Given the description of an element on the screen output the (x, y) to click on. 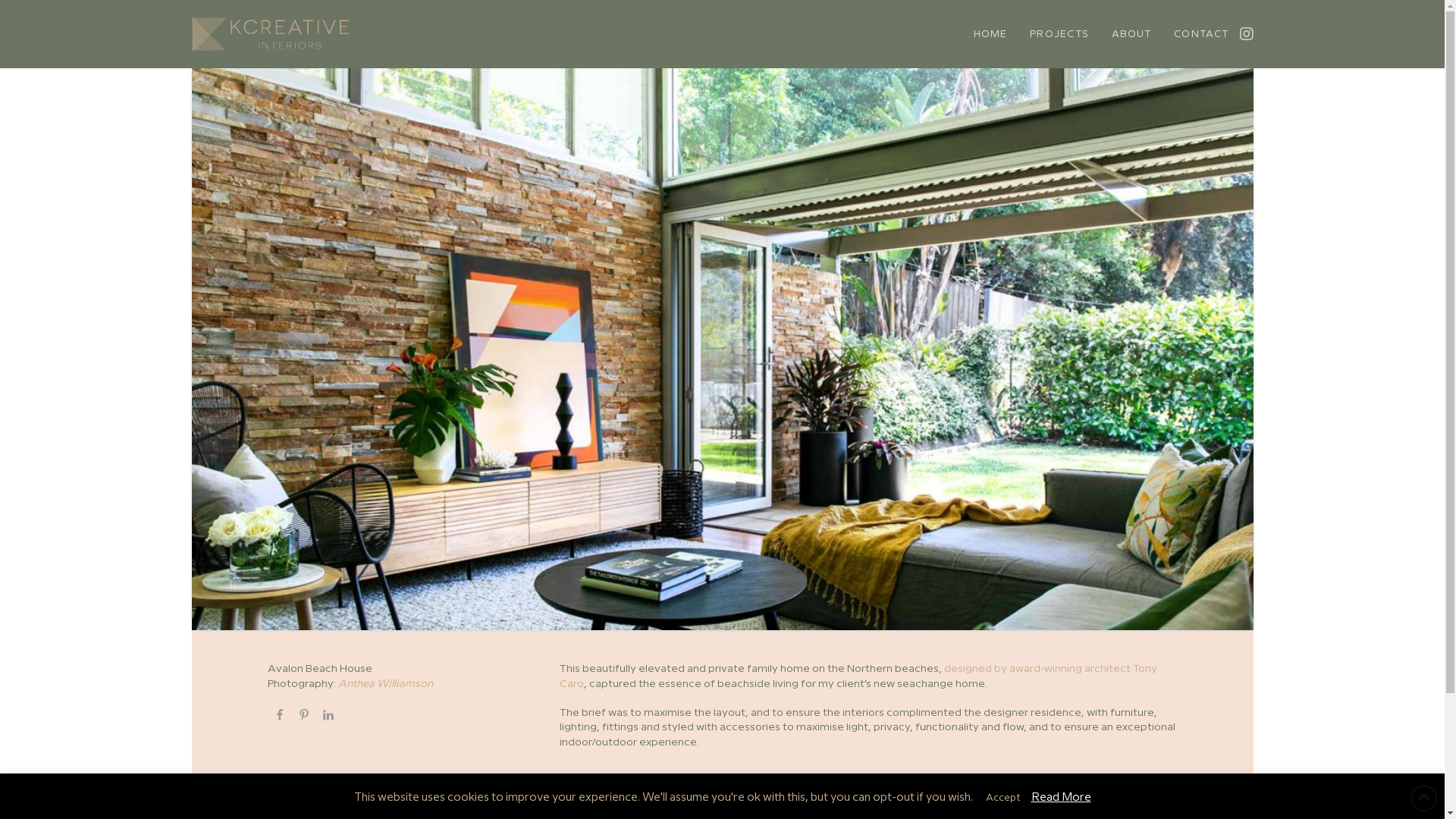
Share on LinkedIn Element type: hover (327, 718)
Back to Top Element type: hover (1423, 797)
Read More Element type: text (1061, 798)
designed by award-winning architect Tony Caro Element type: text (858, 676)
CONTACT Element type: text (1200, 34)
Anthea Williamson Element type: text (385, 683)
ABOUT Element type: text (1130, 34)
PROJECTS Element type: text (1058, 34)
Accept Element type: text (1002, 797)
Share on Facebook Element type: hover (278, 718)
HOME Element type: text (989, 34)
Share on Pinterest Element type: hover (303, 718)
